Given the description of an element on the screen output the (x, y) to click on. 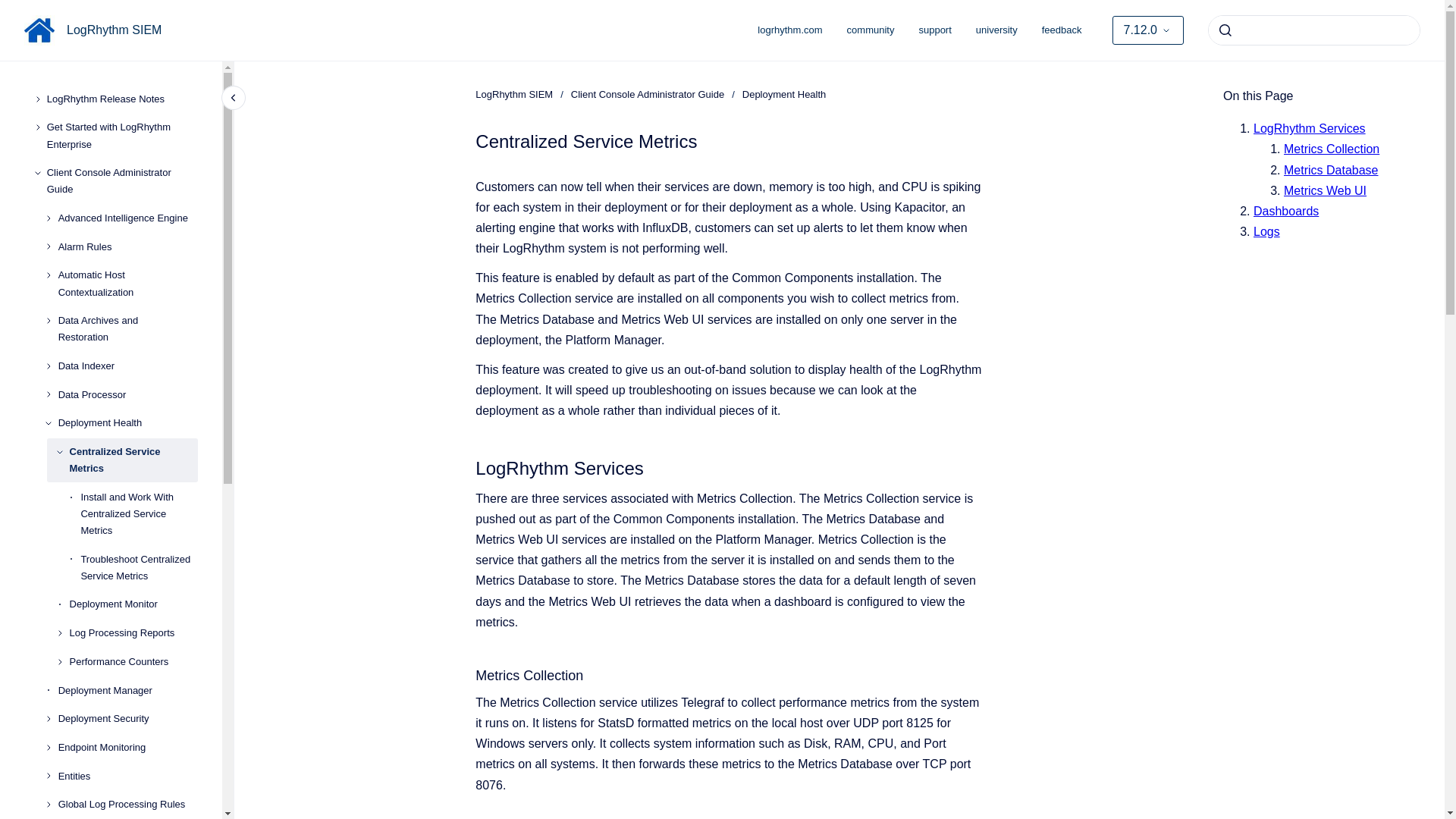
Data Archives and Restoration (128, 329)
feedback (1061, 29)
Alarm Rules (128, 247)
Install and Work With Centralized Service Metrics (139, 514)
Deployment Health (128, 423)
Deployment Monitor (133, 605)
Get Started with LogRhythm Enterprise (122, 136)
Performance Counters (133, 661)
LogRhythm Release Notes (122, 99)
Log Processing Reports (133, 633)
